Given the description of an element on the screen output the (x, y) to click on. 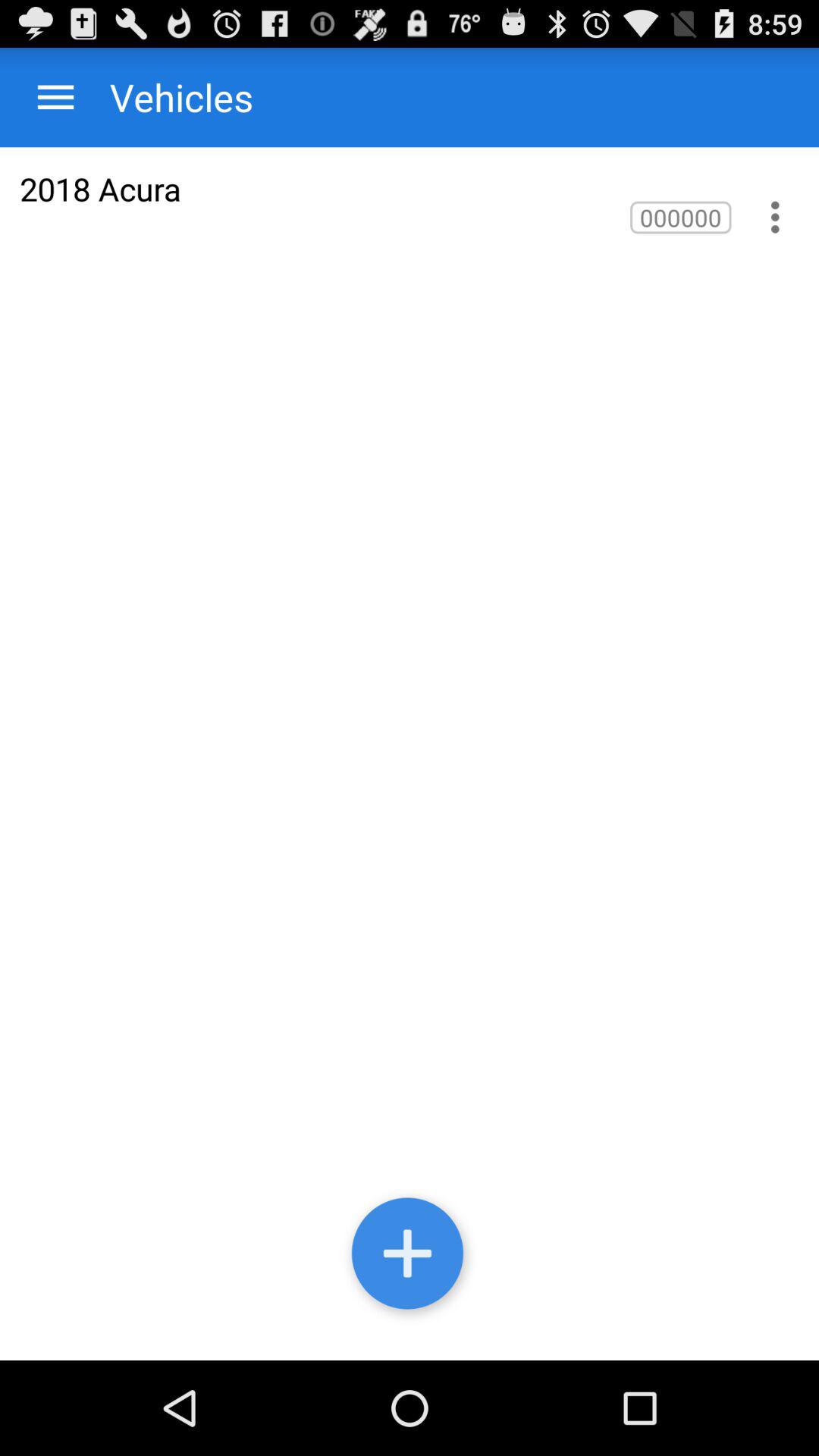
swipe to the 2018 acura icon (99, 188)
